Given the description of an element on the screen output the (x, y) to click on. 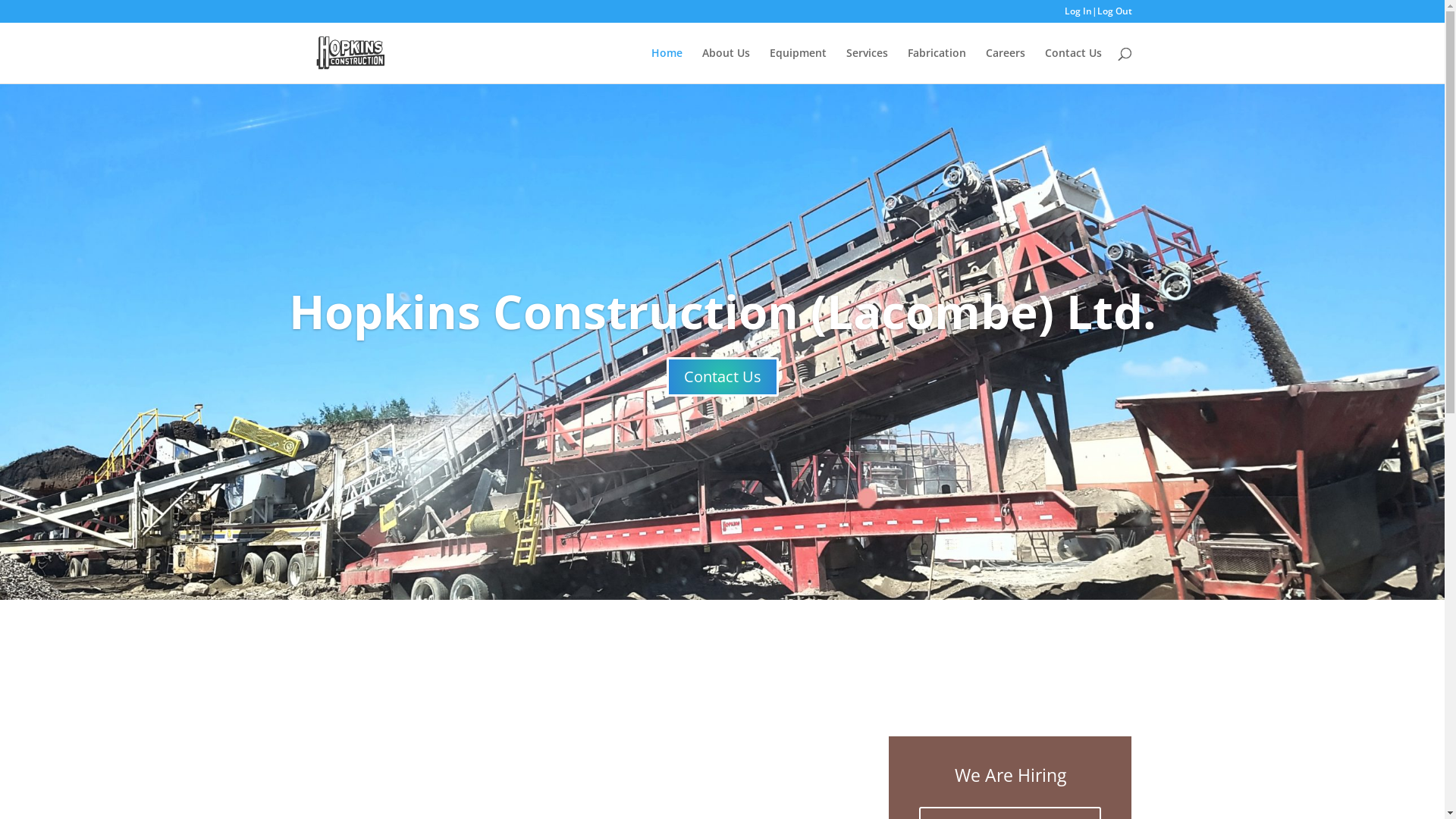
Contact Us Element type: text (721, 376)
Equipment Element type: text (796, 65)
Hopkins Construction (Lacombe) Ltd. Element type: text (721, 310)
Careers Element type: text (1005, 65)
Services Element type: text (867, 65)
Contact Us Element type: text (1072, 65)
Fabrication Element type: text (935, 65)
Log In|Log Out Element type: text (1098, 14)
Home Element type: text (665, 65)
About Us Element type: text (725, 65)
